Given the description of an element on the screen output the (x, y) to click on. 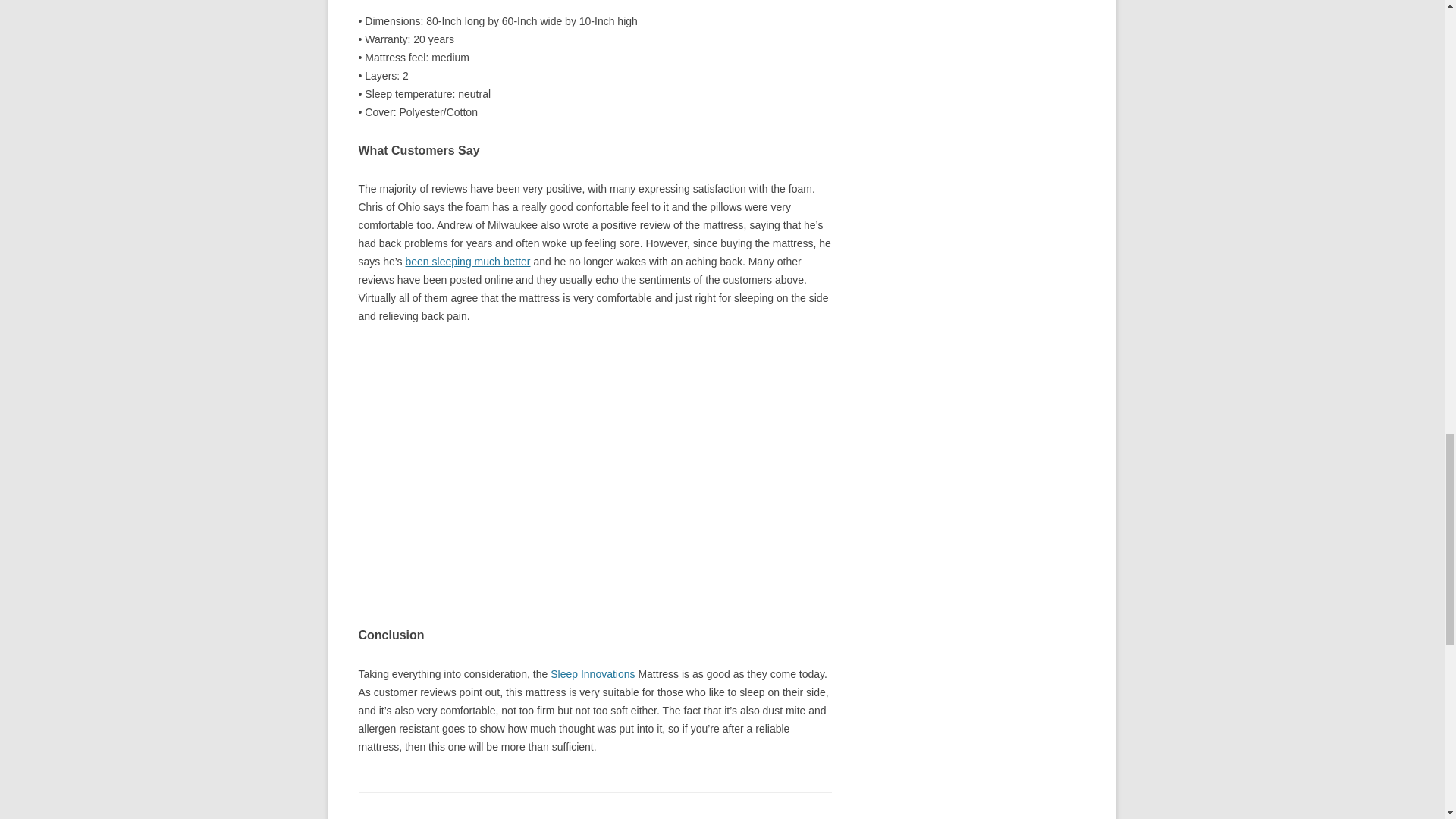
Sleep Innovations (592, 674)
been sleeping much better (466, 261)
Let us help you have a restful and peaceful nights sleep (466, 261)
